Given the description of an element on the screen output the (x, y) to click on. 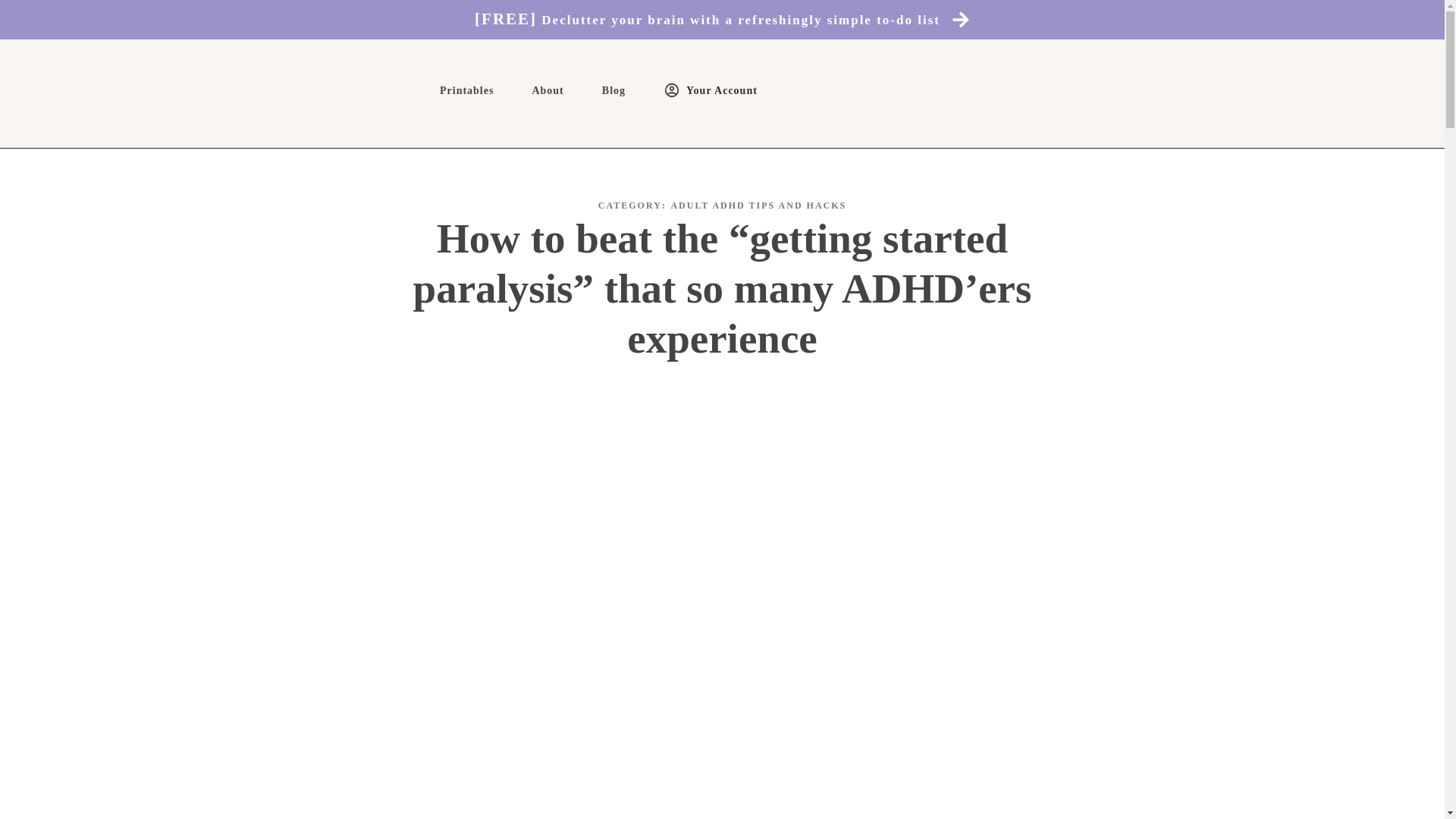
Your Account (710, 90)
Printables (466, 91)
Adult ADHD Tips and Hacks (757, 204)
About (547, 91)
ADULT ADHD TIPS AND HACKS (757, 204)
